Given the description of an element on the screen output the (x, y) to click on. 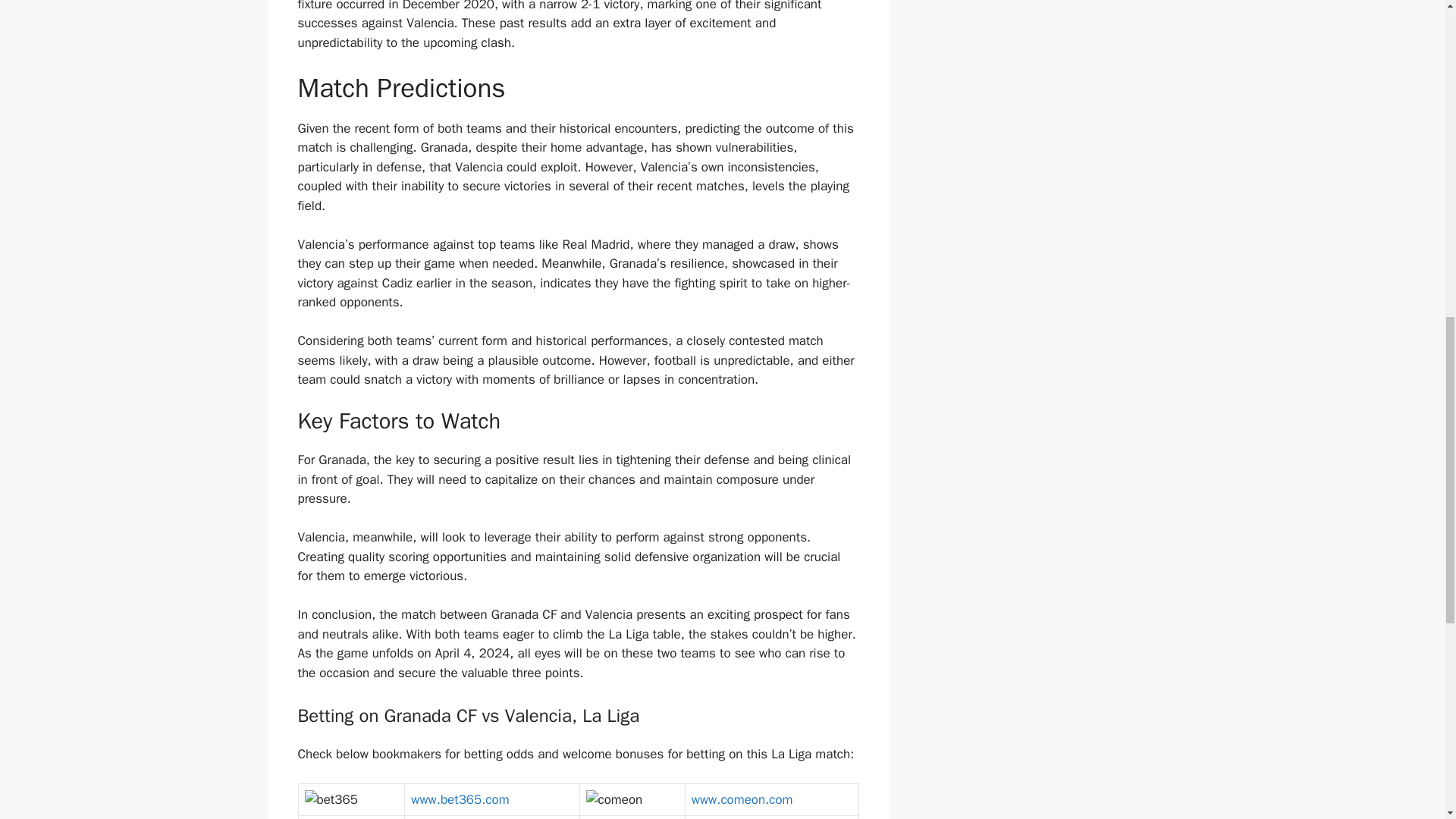
www.comeon.com (742, 799)
www.bet365.com (459, 799)
